Given the description of an element on the screen output the (x, y) to click on. 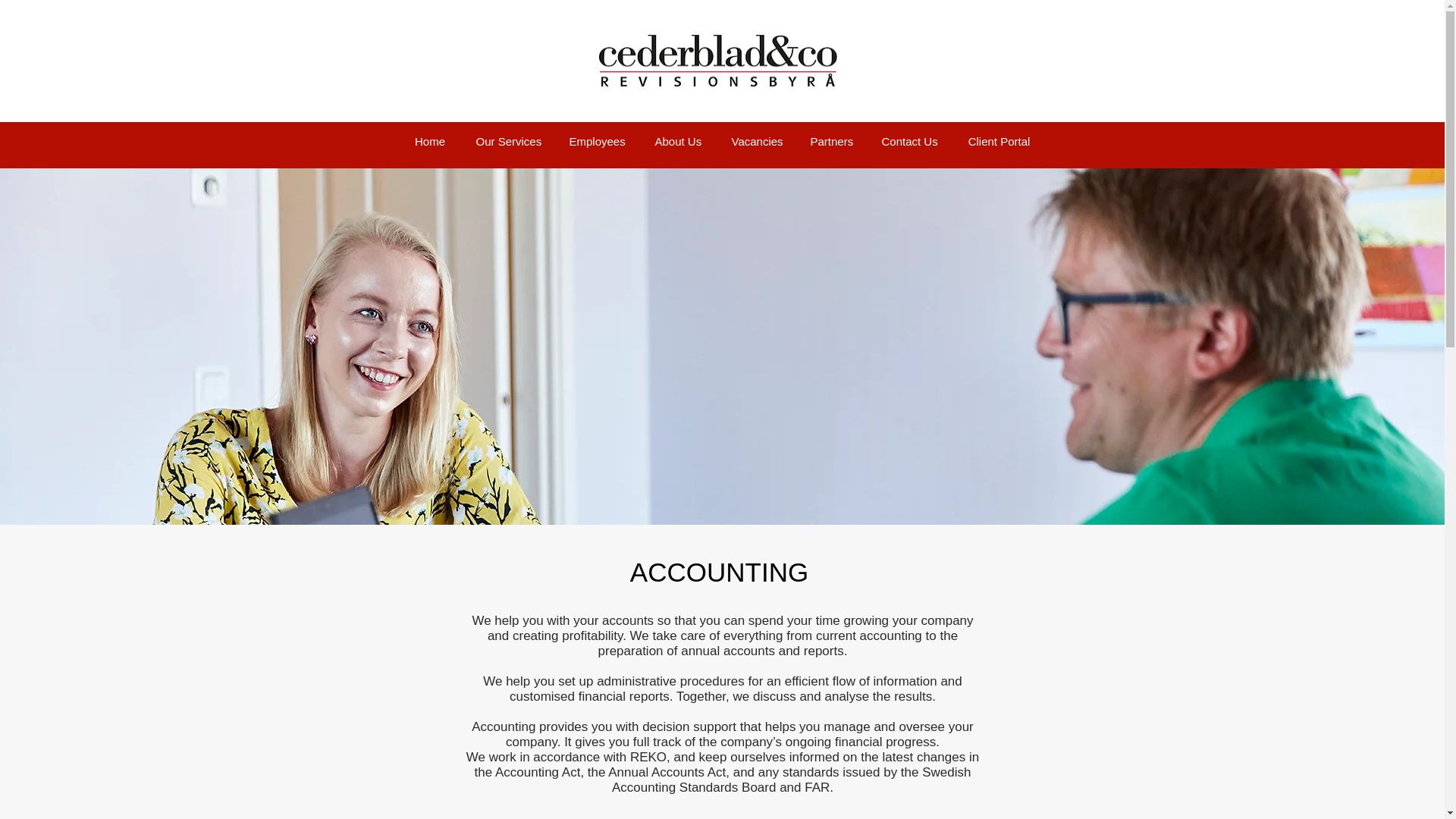
Partners (830, 140)
Vacancies (755, 140)
Home (429, 140)
Our Services (507, 140)
Contact Us (909, 140)
Client Portal (999, 140)
About Us (678, 140)
Employees (596, 140)
